Given the description of an element on the screen output the (x, y) to click on. 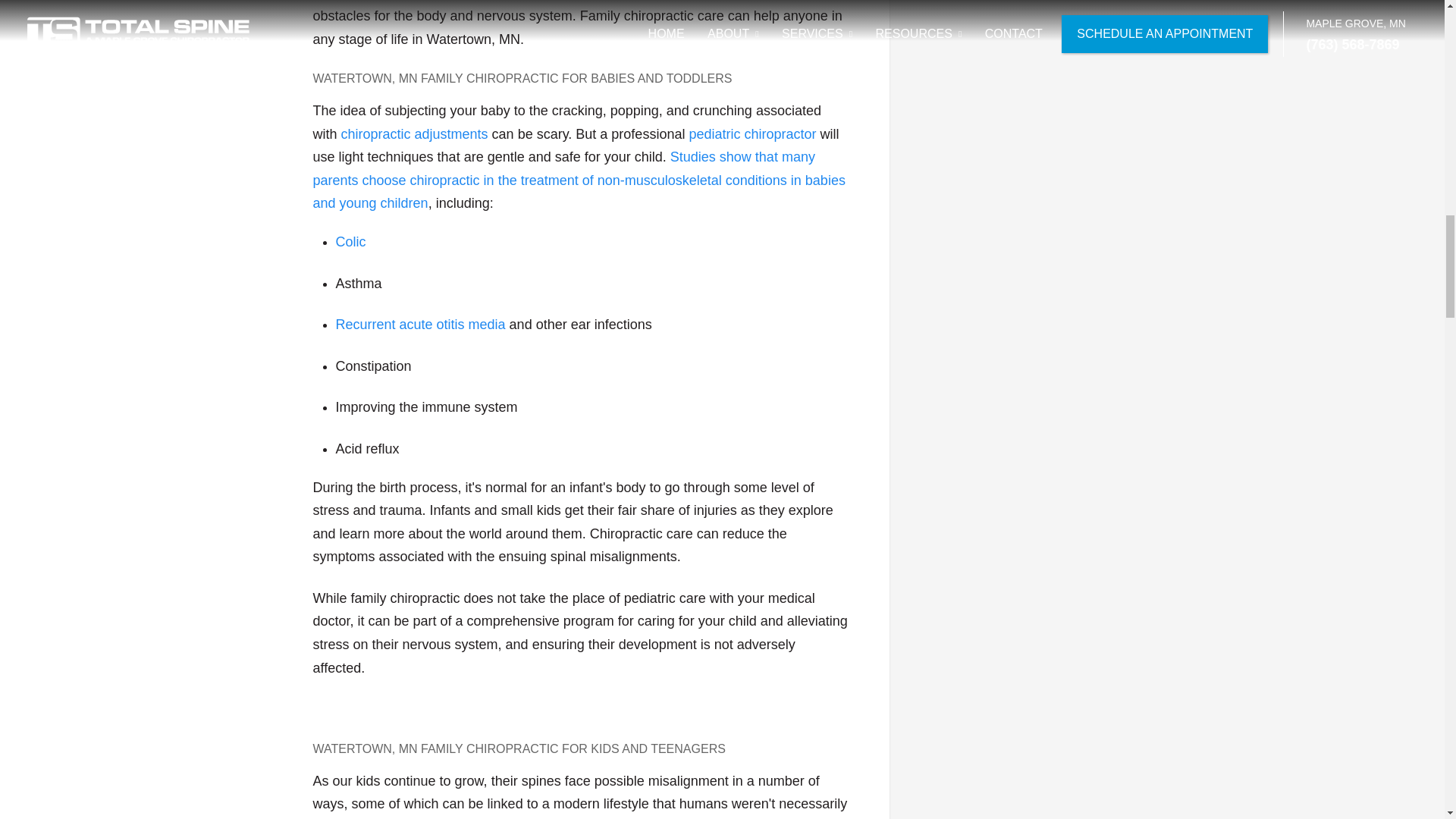
LLW (419, 324)
NCBI (578, 179)
MayoClinic (349, 241)
Recurrent acute otitis media (419, 324)
chiropractic adjustments (413, 133)
Colic (349, 241)
pediatric chiropractor (751, 133)
